Given the description of an element on the screen output the (x, y) to click on. 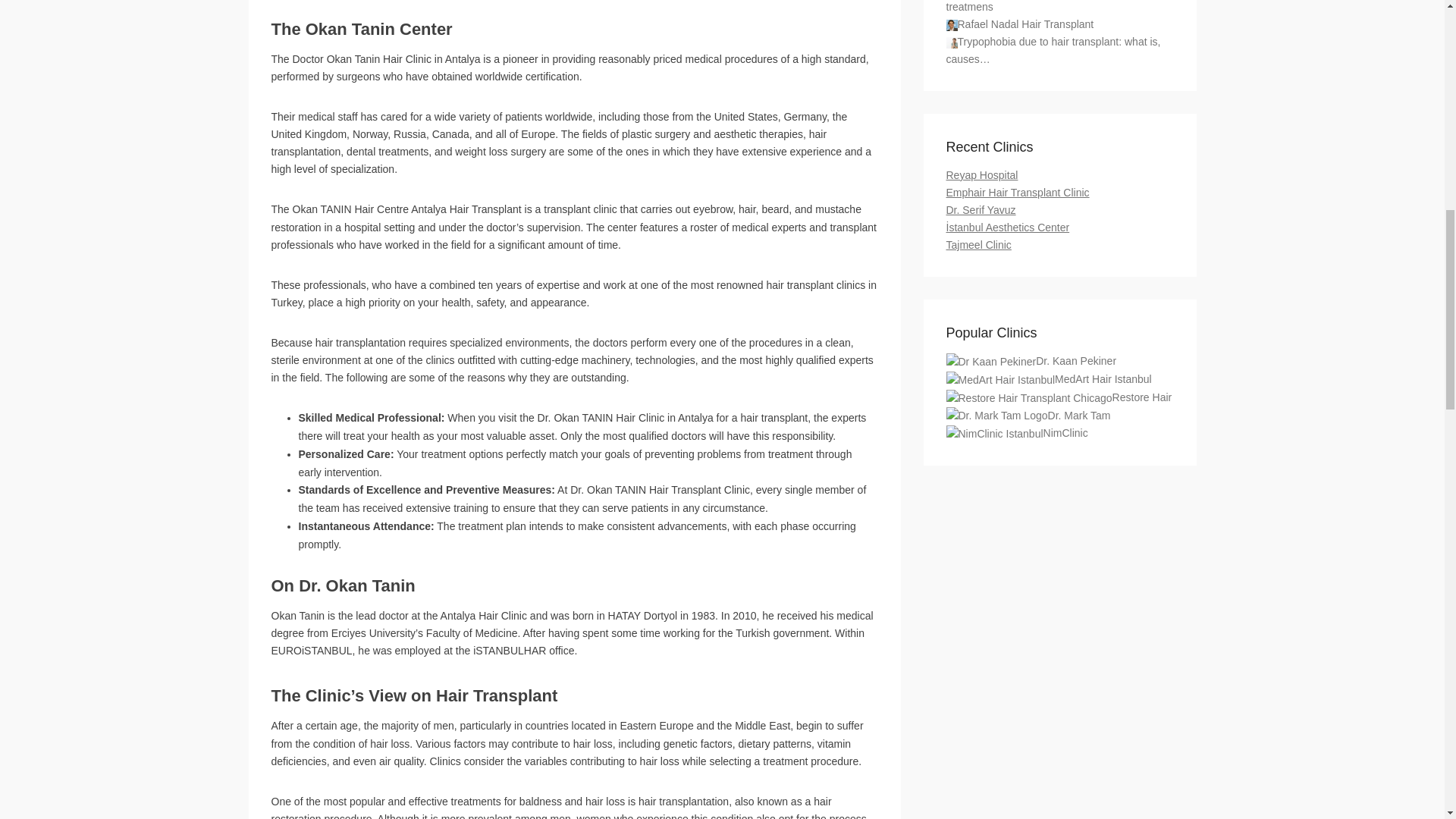
Rafael Nadal Hair Transplant (952, 25)
